Given the description of an element on the screen output the (x, y) to click on. 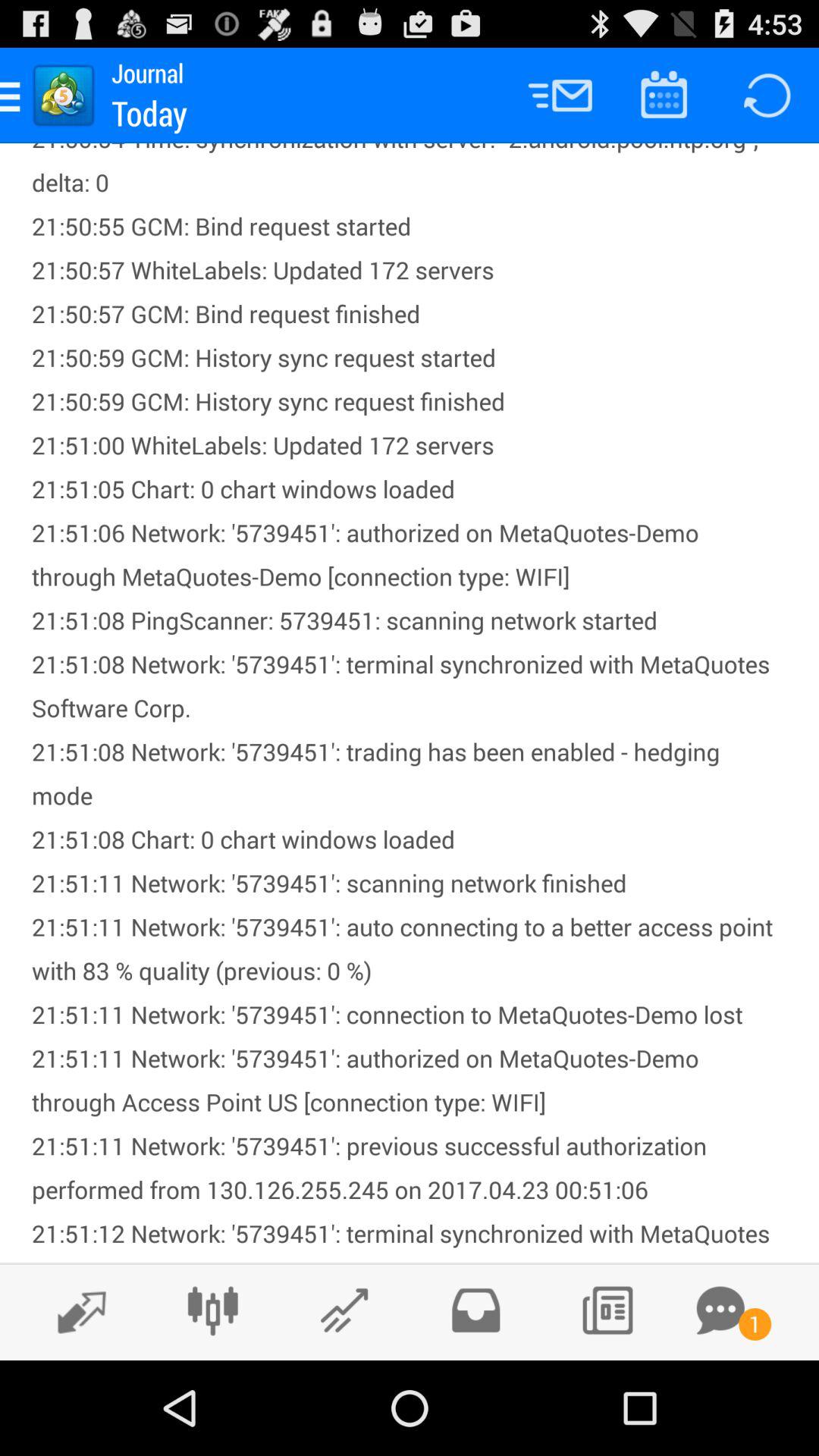
share comments (720, 1310)
